Given the description of an element on the screen output the (x, y) to click on. 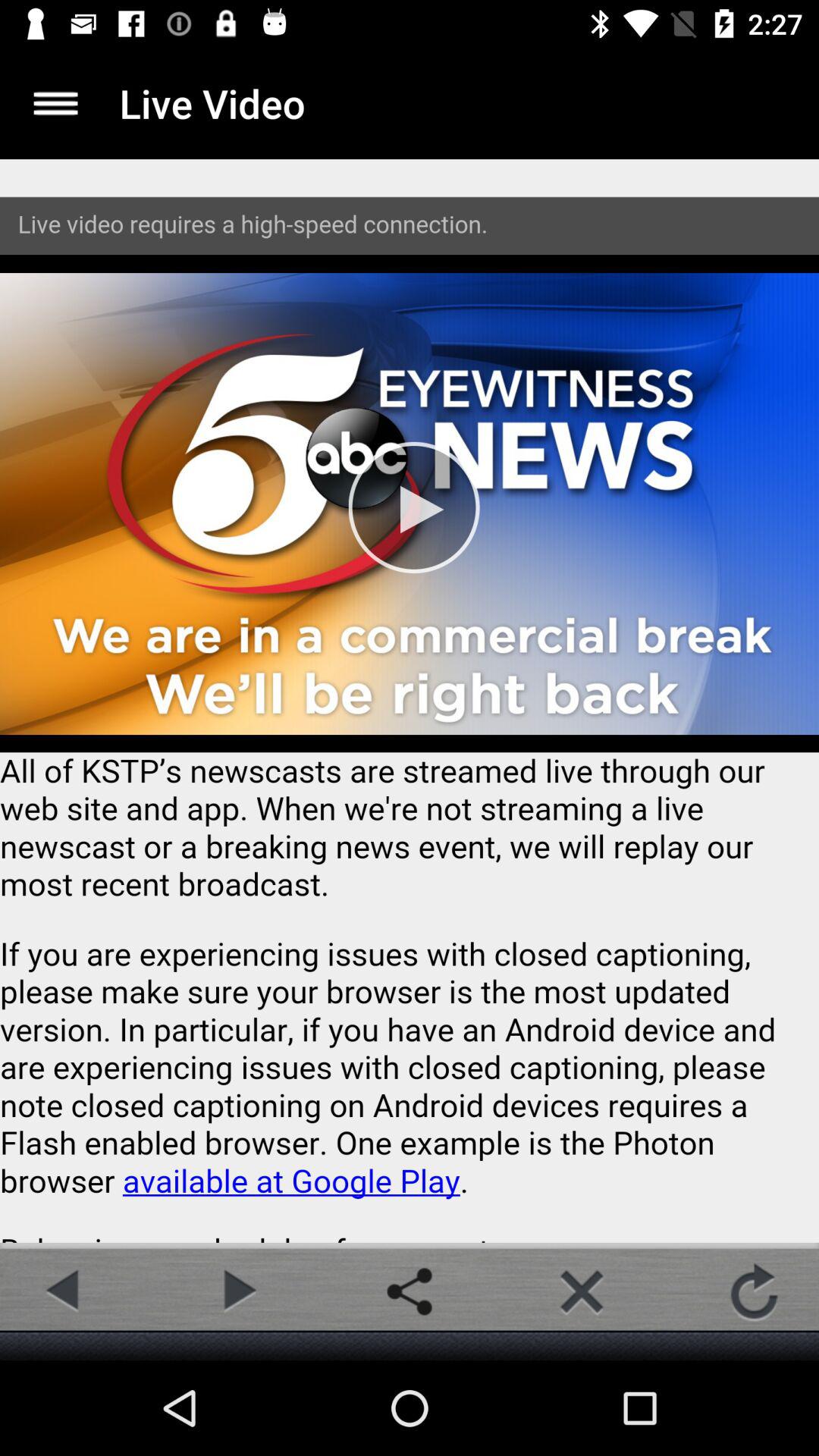
live video pages (409, 700)
